Given the description of an element on the screen output the (x, y) to click on. 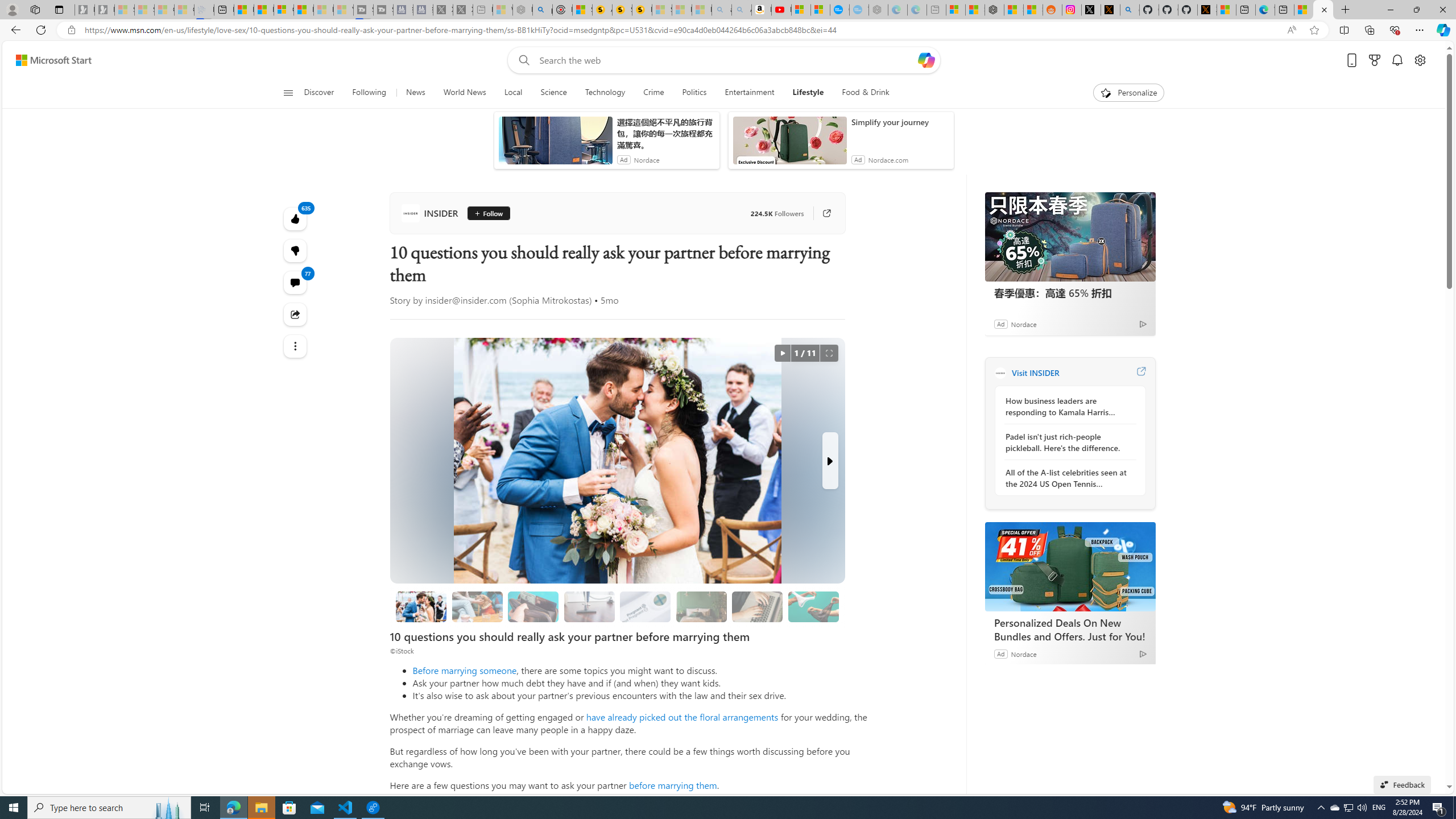
Food & Drink (865, 92)
World News (464, 92)
Two friend sitting at a coffee shop petting a dog. (476, 606)
Welcome to Microsoft Edge (1264, 9)
Share this story (295, 314)
Enter your search term (726, 59)
Shades of green get dated too quickly. (700, 606)
anim-content (789, 144)
